Given the description of an element on the screen output the (x, y) to click on. 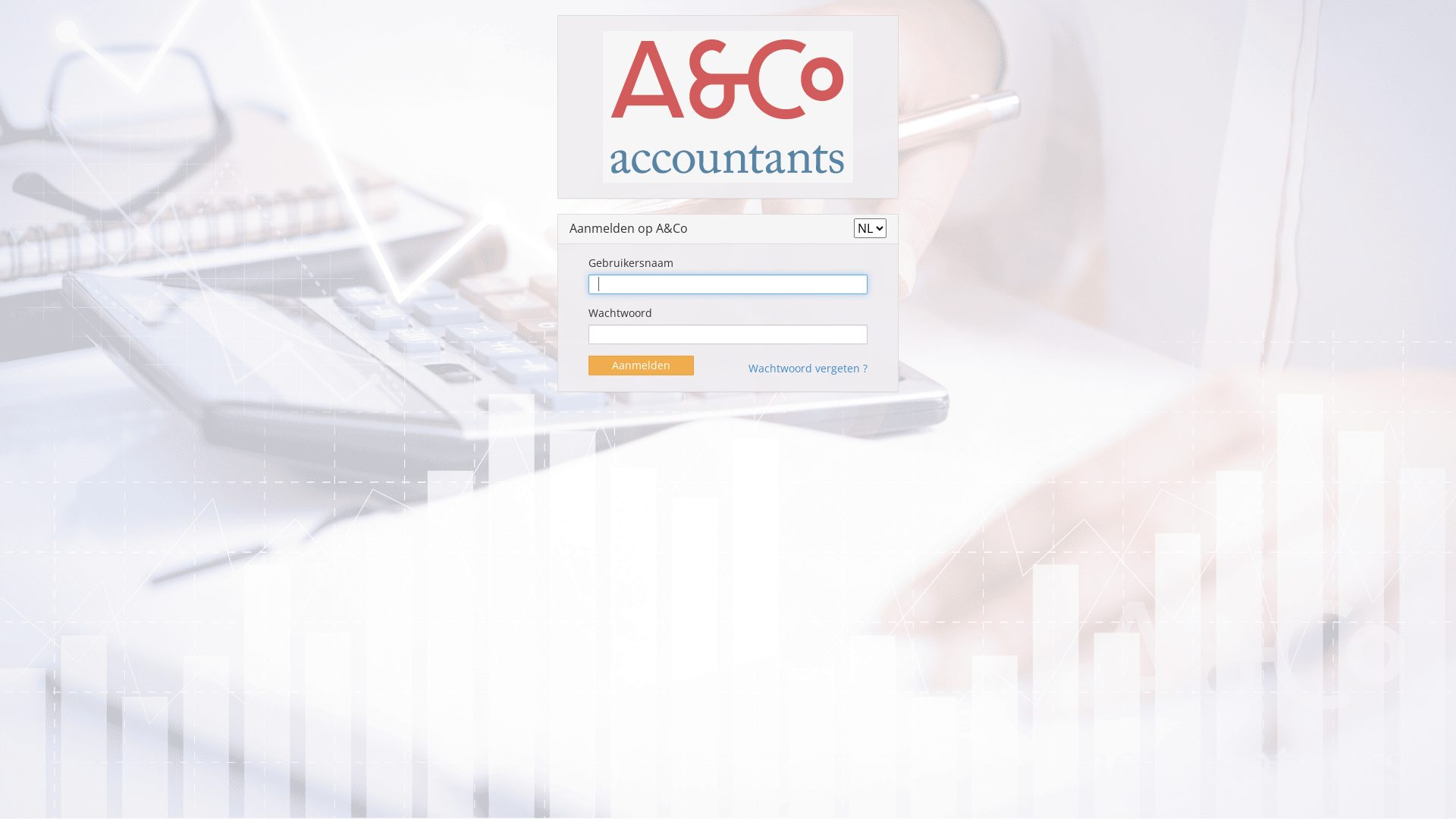
Aanmelden Element type: text (640, 365)
Wachtwoord vergeten ? Element type: text (807, 365)
